Given the description of an element on the screen output the (x, y) to click on. 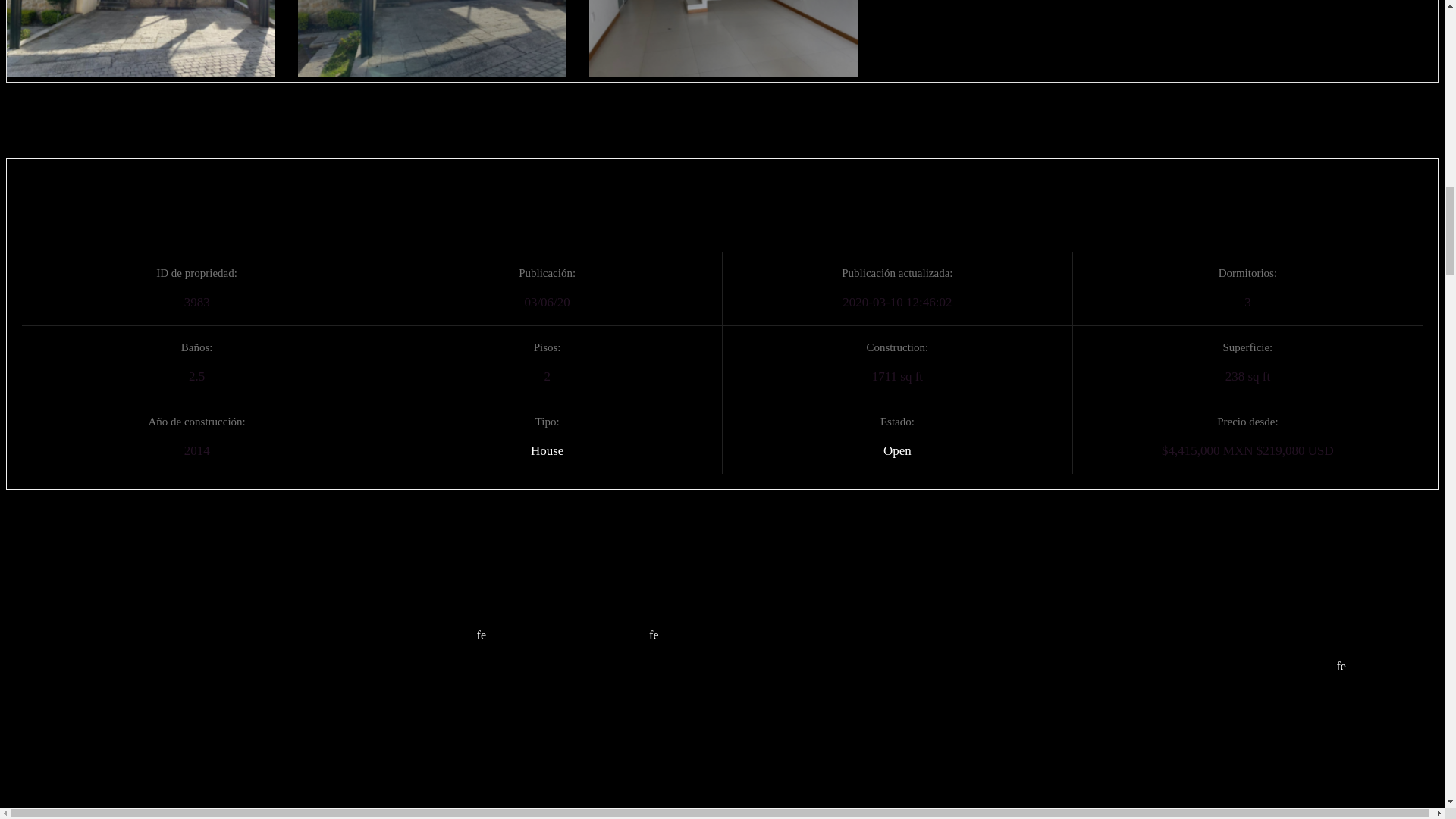
Open (897, 450)
fe (1340, 666)
fe (481, 634)
fe (653, 634)
House (547, 450)
